Given the description of an element on the screen output the (x, y) to click on. 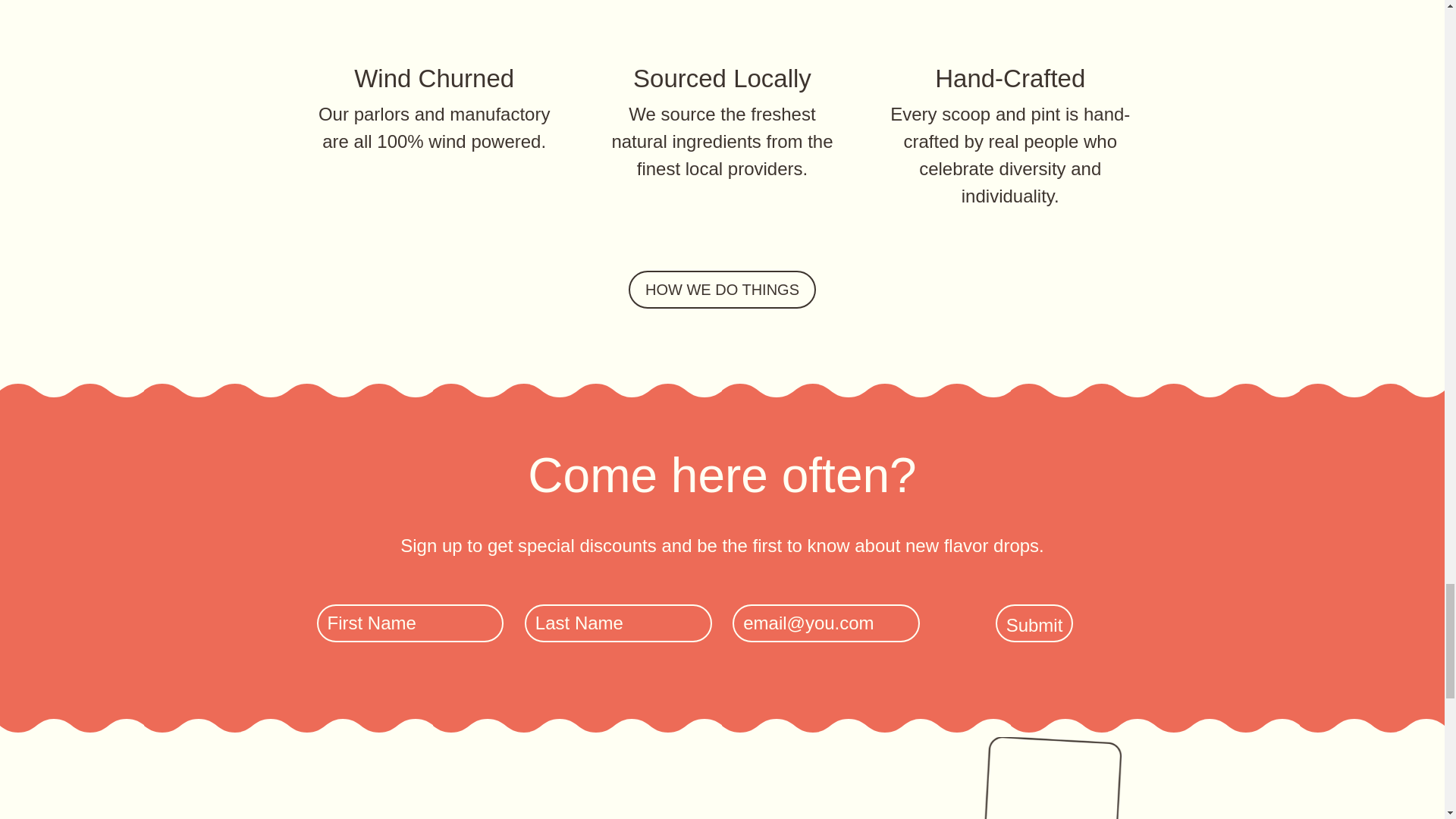
Submit (1034, 623)
